Given the description of an element on the screen output the (x, y) to click on. 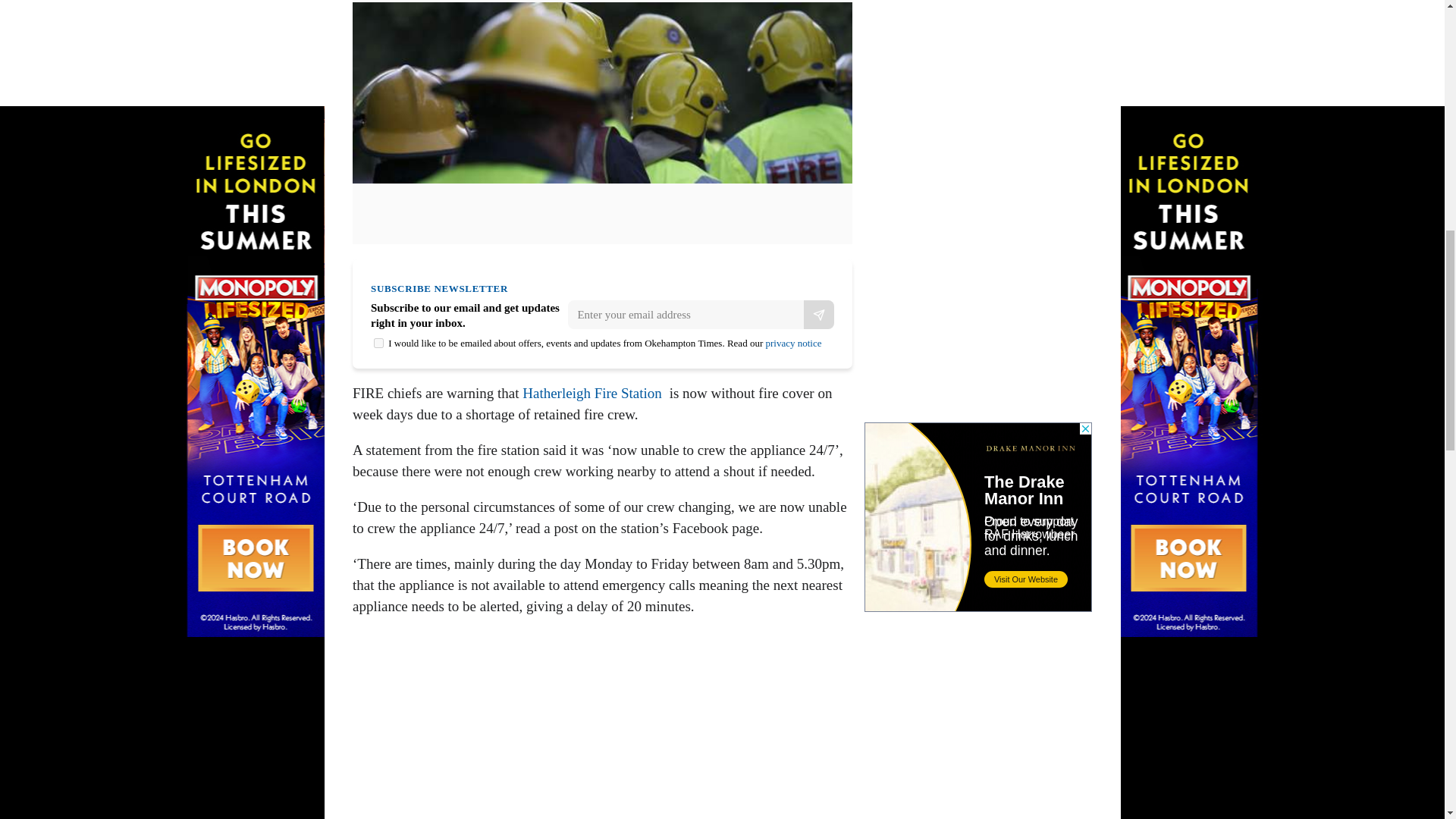
3rd party ad content (978, 516)
Hatherleigh Fire Station (592, 392)
3rd party ad content (601, 733)
privacy notice (793, 342)
3rd party ad content (978, 72)
